Given the description of an element on the screen output the (x, y) to click on. 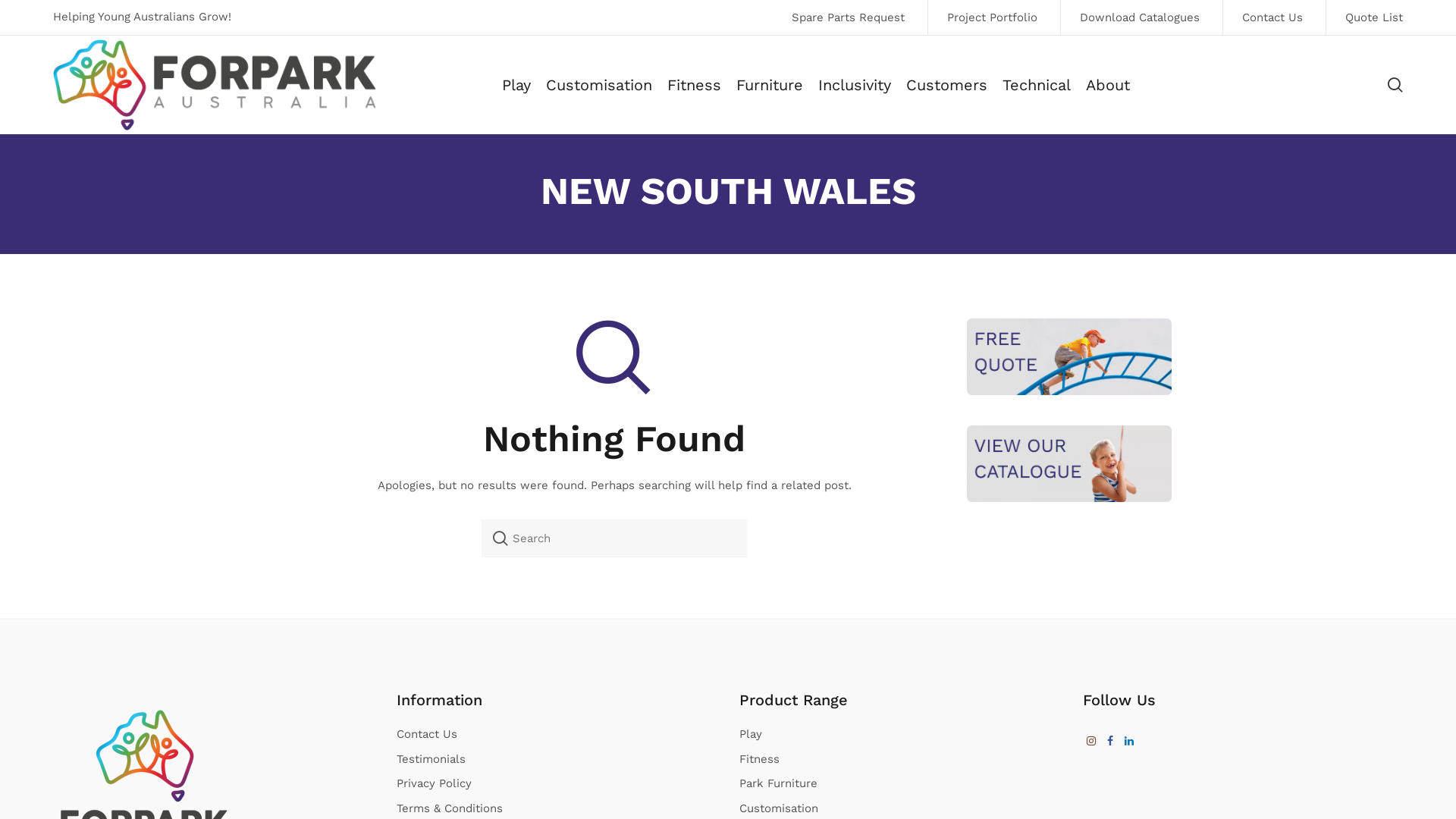
About Element type: text (1107, 84)
Fitness Element type: text (759, 758)
Play Element type: text (516, 84)
Terms & Conditions Element type: text (448, 808)
Project Portfolio Element type: text (991, 17)
SEARCH Element type: text (500, 538)
Download Catalogues Element type: text (1139, 17)
Furniture Element type: text (769, 84)
Customisation Element type: text (778, 808)
Privacy Policy Element type: text (432, 783)
Contact Us Element type: text (425, 733)
Inclusivity Element type: text (854, 84)
Contact Us Element type: text (1271, 17)
Customers Element type: text (946, 84)
Customisation Element type: text (599, 84)
Play Element type: text (750, 733)
Testimonials Element type: text (429, 758)
Fitness Element type: text (694, 84)
Spare Parts Request Element type: text (847, 17)
Quote List Element type: text (1363, 17)
Park Furniture Element type: text (778, 783)
Technical Element type: text (1036, 84)
